Given the description of an element on the screen output the (x, y) to click on. 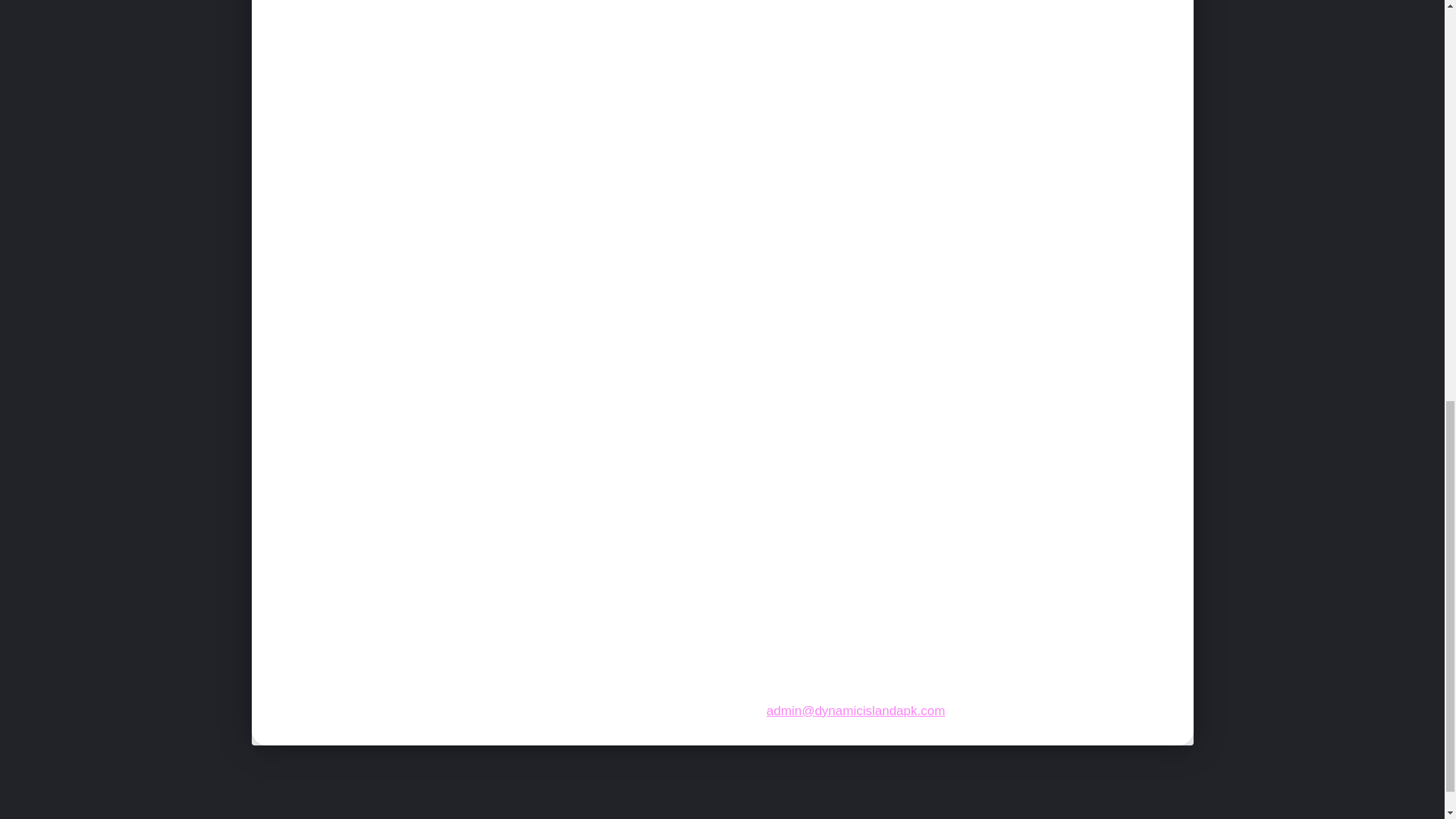
Disclaimer (1051, 816)
DMCA (1149, 816)
Cookie Policy (931, 816)
Privacy Policy (630, 816)
Terms and Conditions (781, 816)
